Given the description of an element on the screen output the (x, y) to click on. 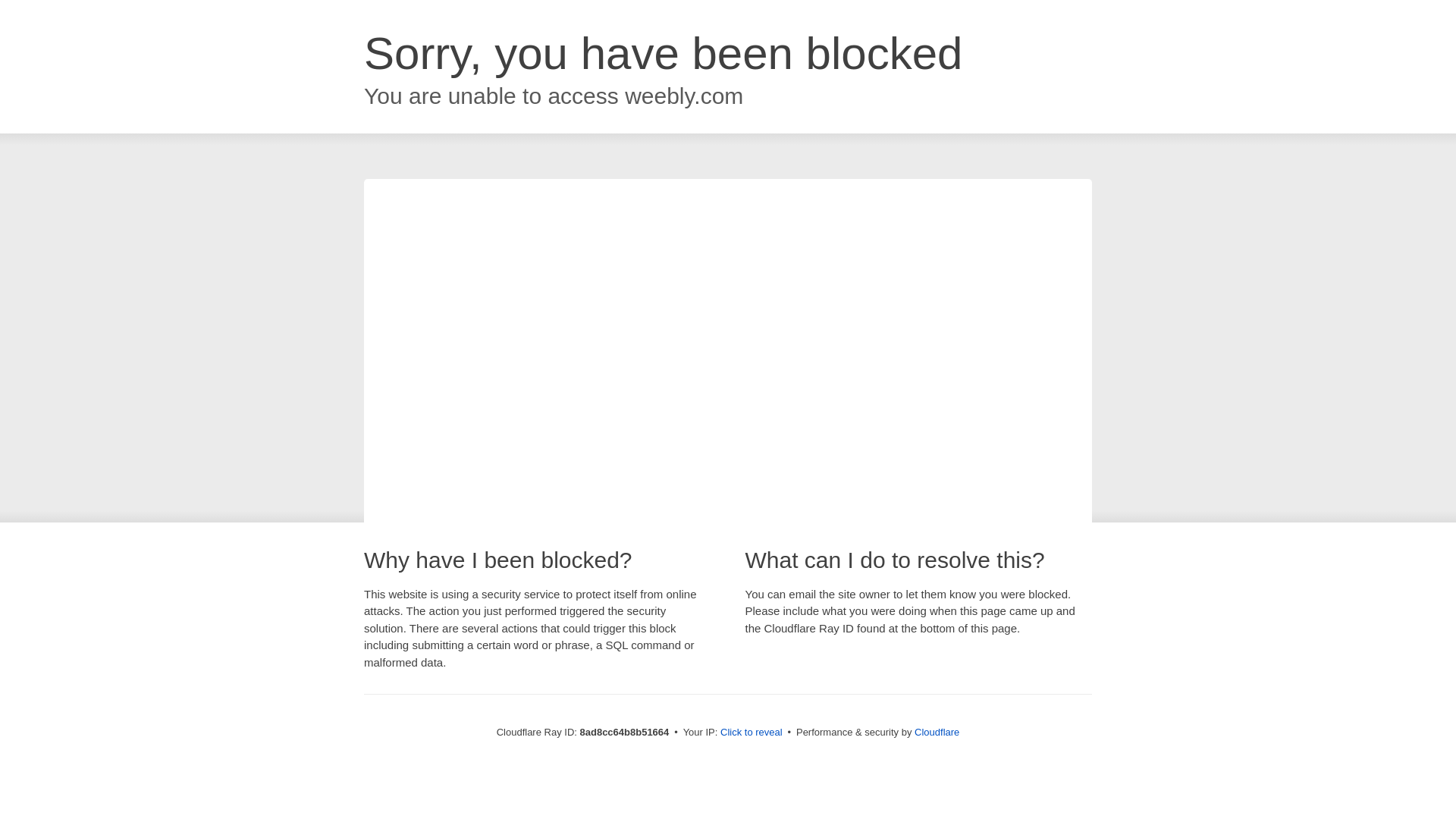
Click to reveal (751, 732)
Cloudflare (936, 731)
